Given the description of an element on the screen output the (x, y) to click on. 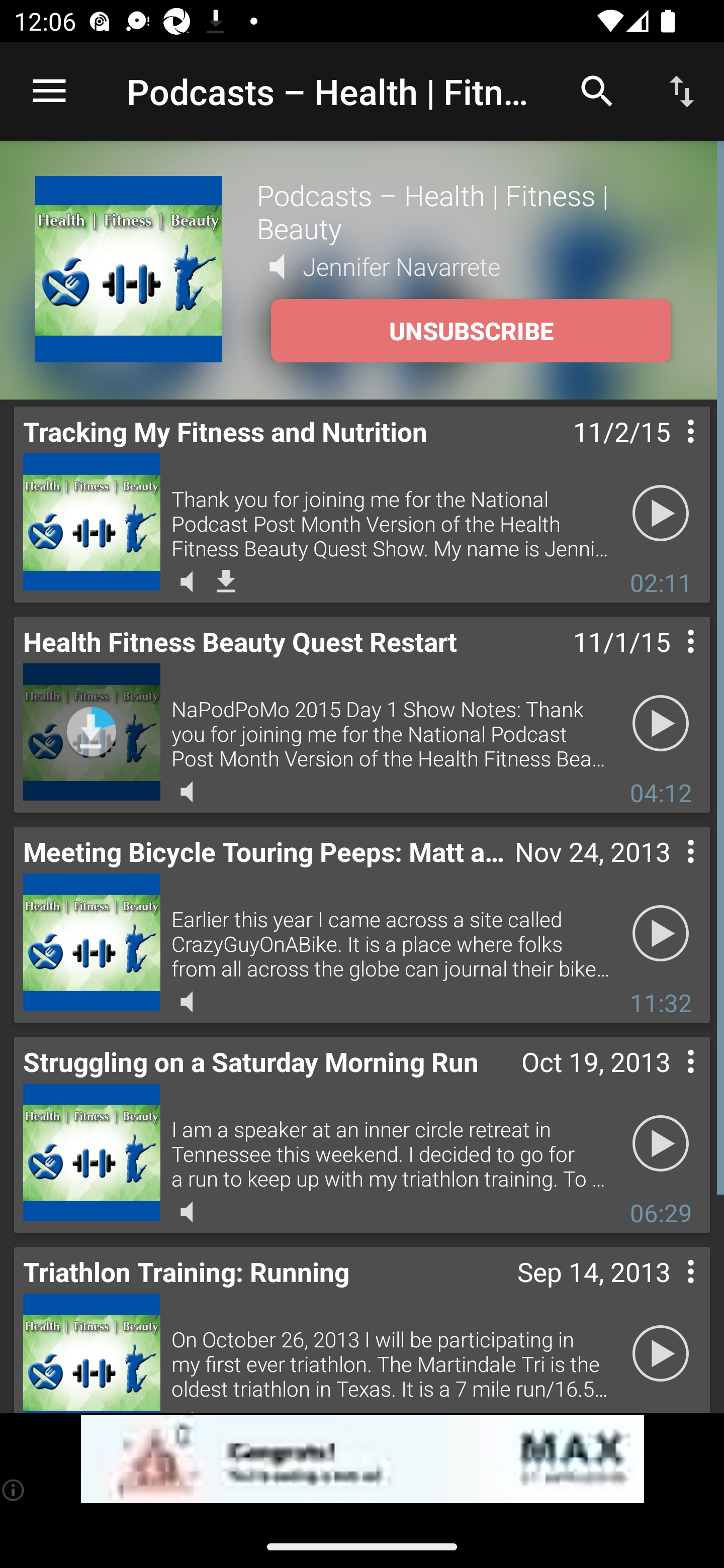
Open navigation sidebar (49, 91)
Search (597, 90)
Sort (681, 90)
UNSUBSCRIBE (470, 330)
Contextual menu (668, 451)
Play (660, 513)
Contextual menu (668, 661)
Play (660, 723)
Contextual menu (668, 870)
Play (660, 933)
Contextual menu (668, 1080)
Play (660, 1143)
Contextual menu (668, 1290)
Play (660, 1353)
app-monetization (362, 1459)
(i) (14, 1489)
